Given the description of an element on the screen output the (x, y) to click on. 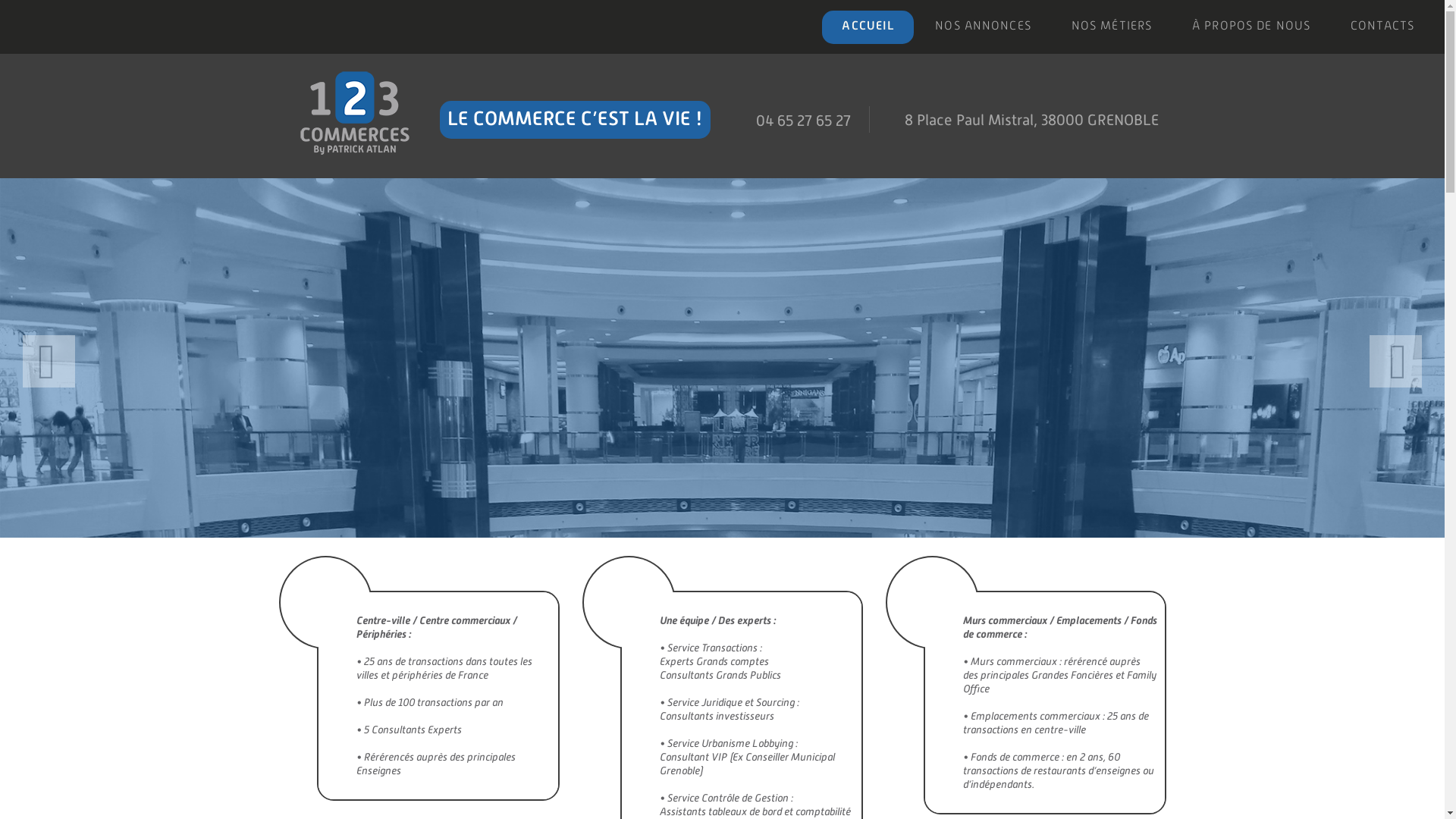
ACCUEIL Element type: text (867, 26)
NOS ANNONCES Element type: text (982, 26)
04 65 27 65 27 Element type: text (803, 120)
CONTACTS Element type: text (1381, 26)
